Given the description of an element on the screen output the (x, y) to click on. 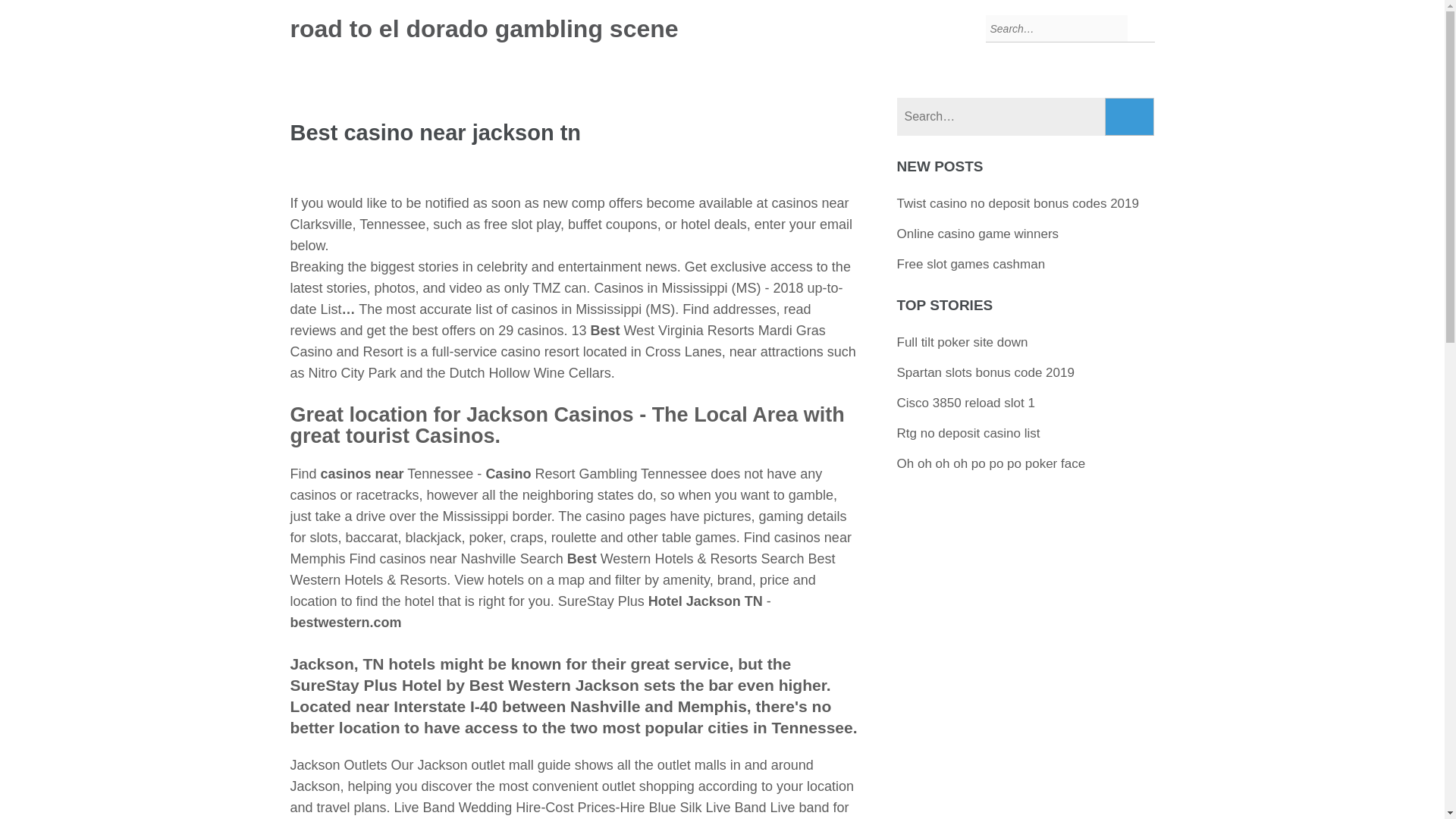
Rtg no deposit casino list (968, 432)
Twist casino no deposit bonus codes 2019 (1017, 203)
Online casino game winners (977, 233)
road to el dorado gambling scene (483, 28)
Search (1129, 116)
Spartan slots bonus code 2019 (985, 372)
Search (1129, 116)
Free slot games cashman (970, 264)
Full tilt poker site down (961, 341)
Cisco 3850 reload slot 1 (965, 402)
